Given the description of an element on the screen output the (x, y) to click on. 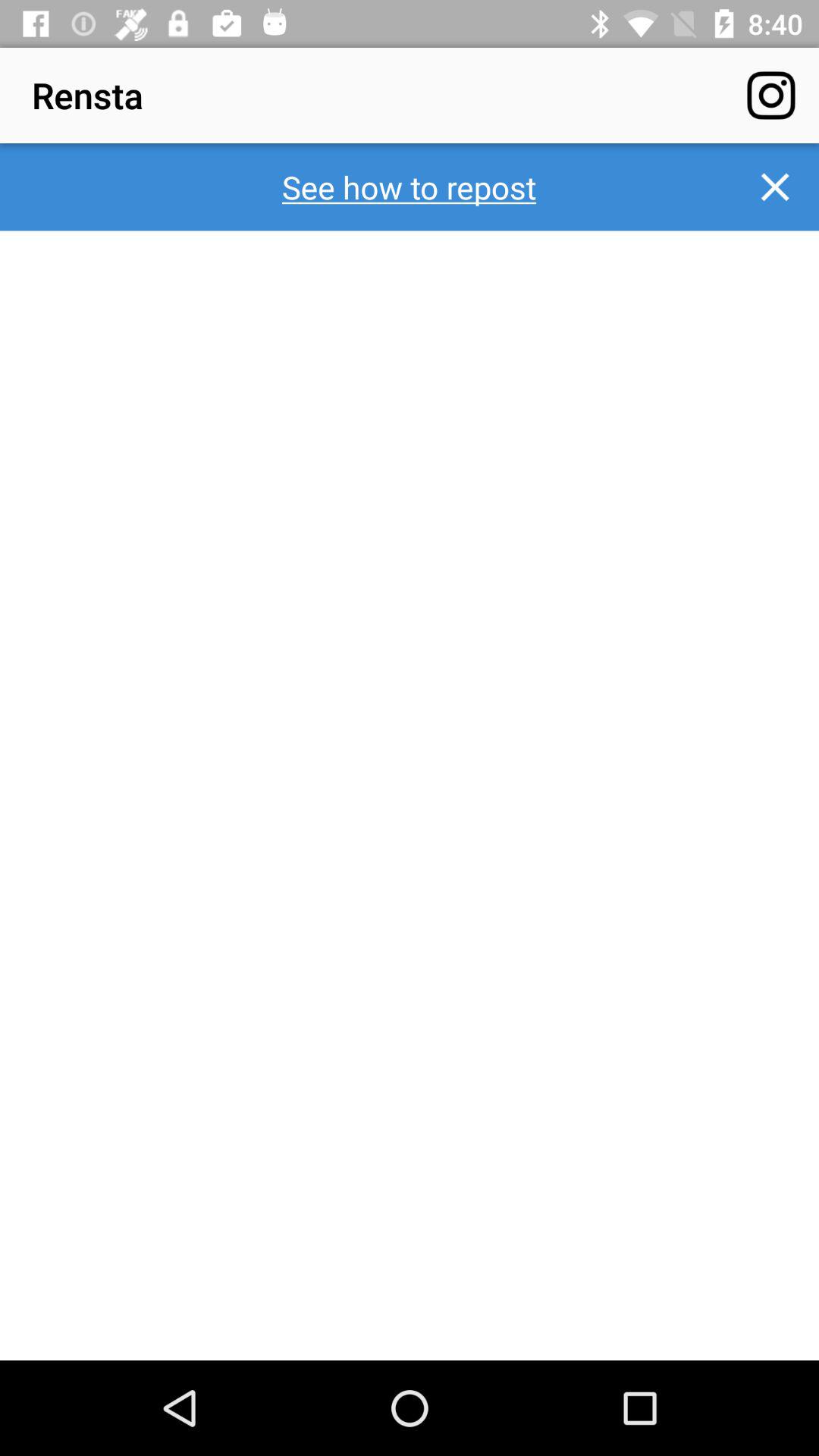
jump until the see how to item (409, 186)
